Given the description of an element on the screen output the (x, y) to click on. 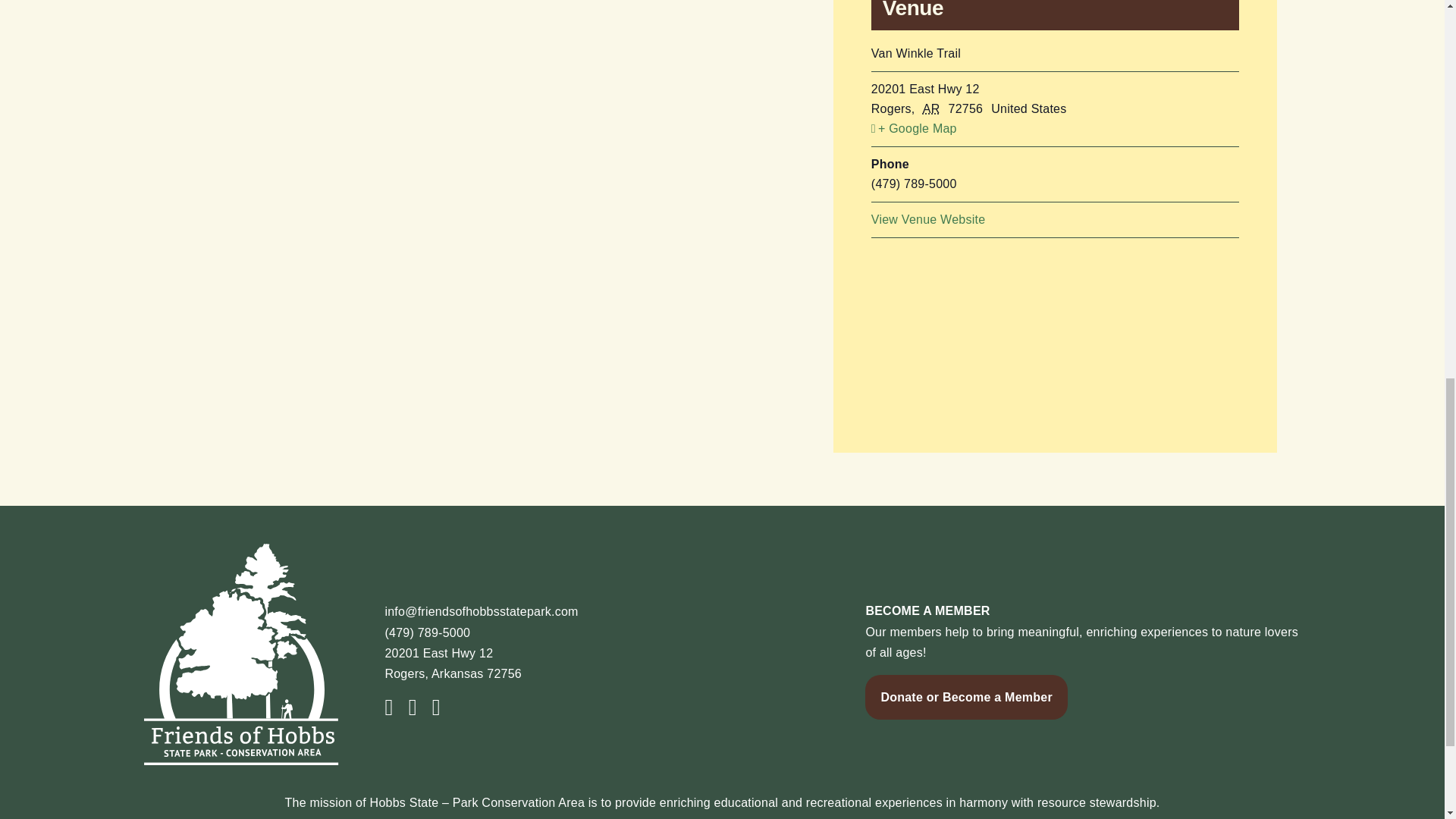
Arkansas (933, 108)
Click to view a Google Map (1054, 128)
